Given the description of an element on the screen output the (x, y) to click on. 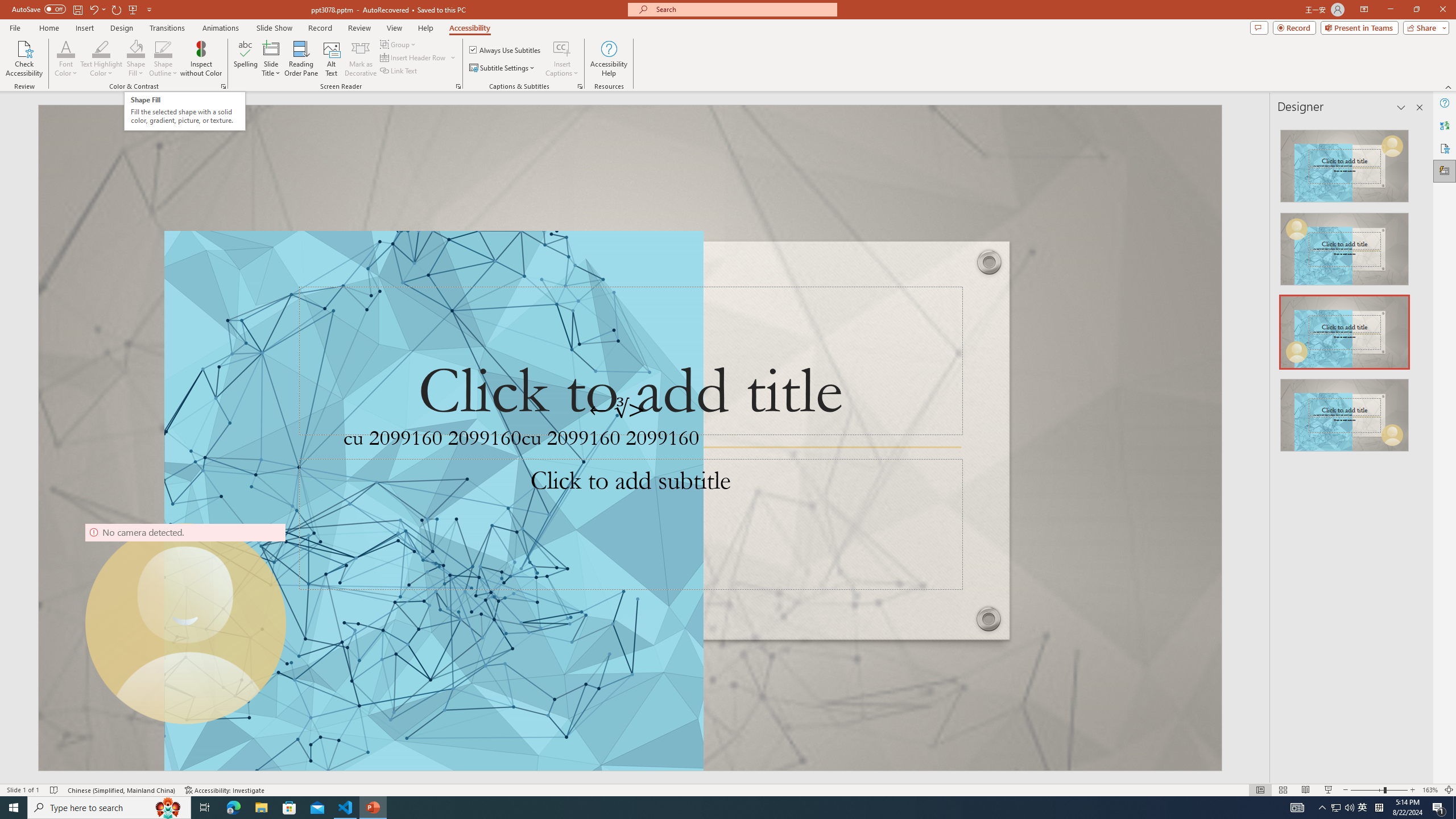
An abstract genetic concept (630, 437)
Insert Header Row (413, 56)
Shape Outline (163, 48)
Alt Text (331, 58)
Slide Title (271, 48)
Insert Header Row (418, 56)
Accessibility Help (608, 58)
Accessibility Checker Accessibility: Investigate (224, 790)
Reading Order Pane (301, 58)
